Given the description of an element on the screen output the (x, y) to click on. 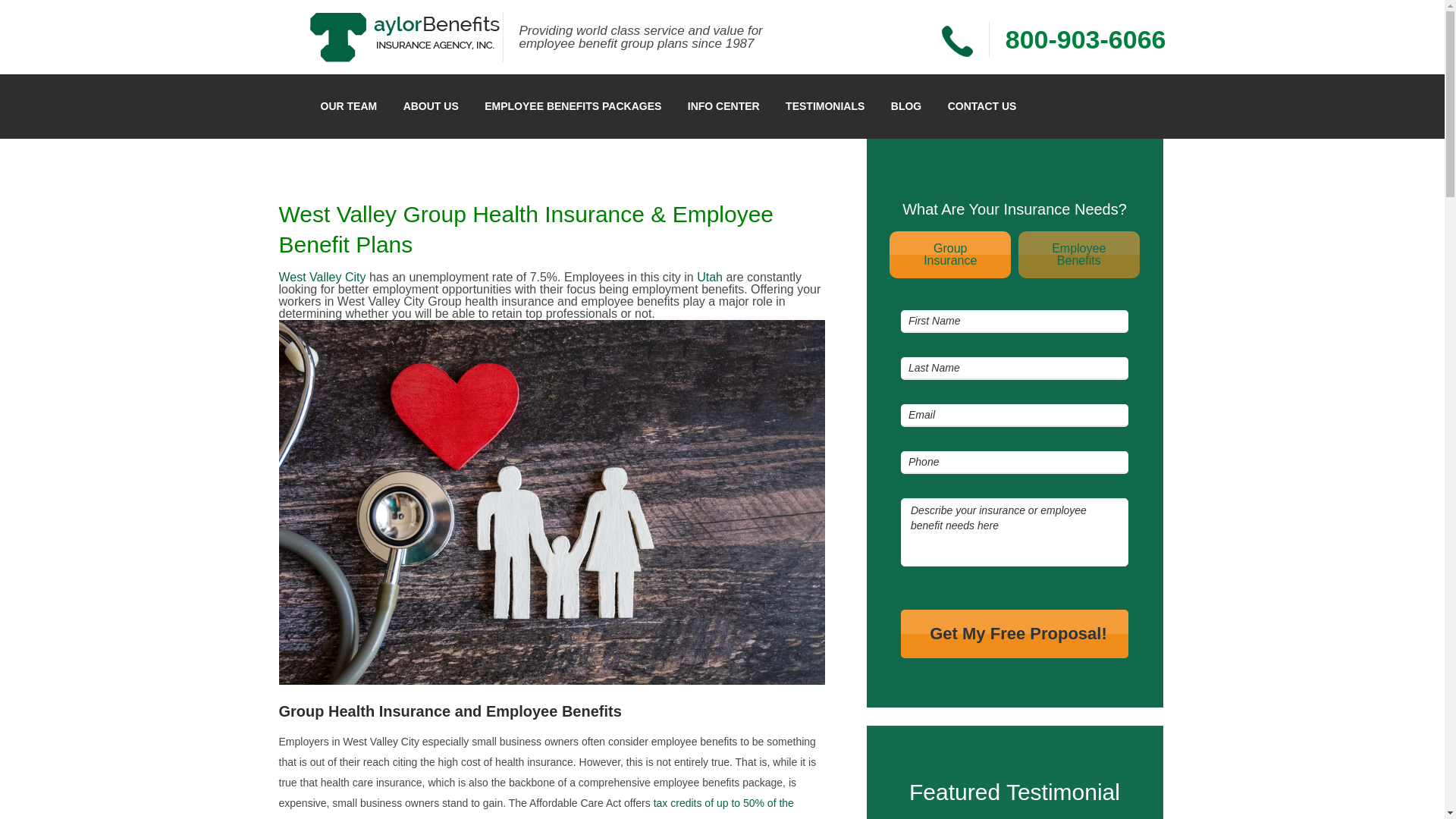
West Valley City (322, 277)
TESTIMONIALS (824, 105)
CONTACT US (981, 105)
INFO CENTER (723, 105)
800-903-6066 (1086, 38)
BLOG (905, 105)
Get My Free Proposal! (1014, 633)
EMPLOYEE BENEFITS PACKAGES (572, 105)
Utah (1078, 254)
OUR TEAM (709, 277)
Get My Free Proposal! (349, 105)
ABOUT US (949, 254)
